Given the description of an element on the screen output the (x, y) to click on. 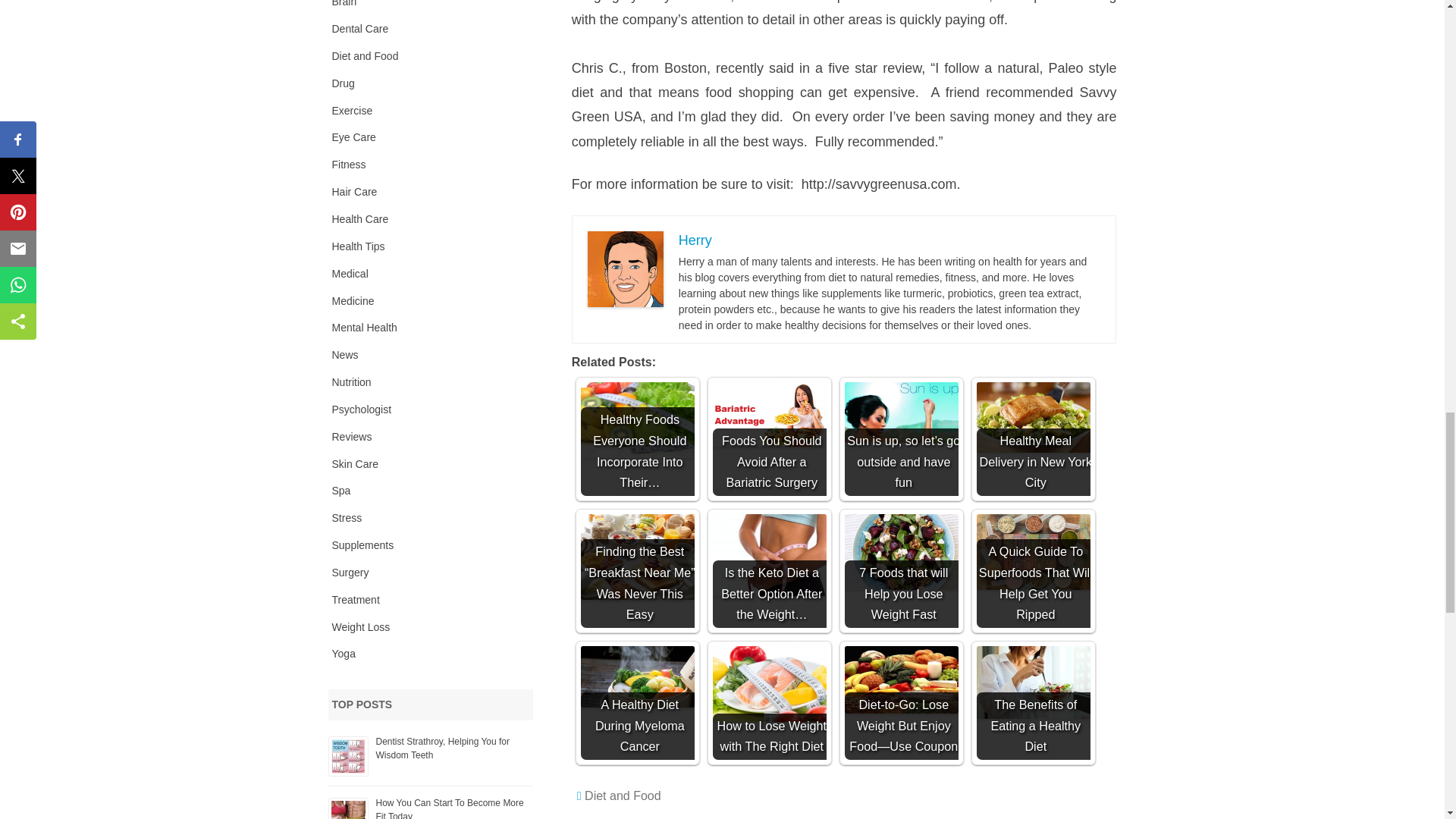
How to Lose Weight with The Right Diet (770, 683)
A Healthy Diet During Myeloma Cancer (637, 676)
7 Foods that will Help you Lose Weight Fast (901, 551)
Daniel Harrison (625, 268)
A Quick Guide To Superfoods That Will Help Get You Ripped (1033, 551)
Foods You Should Avoid After a Bariatric Surgery (770, 414)
Healthy Meal Delivery in New York City (1033, 417)
